Given the description of an element on the screen output the (x, y) to click on. 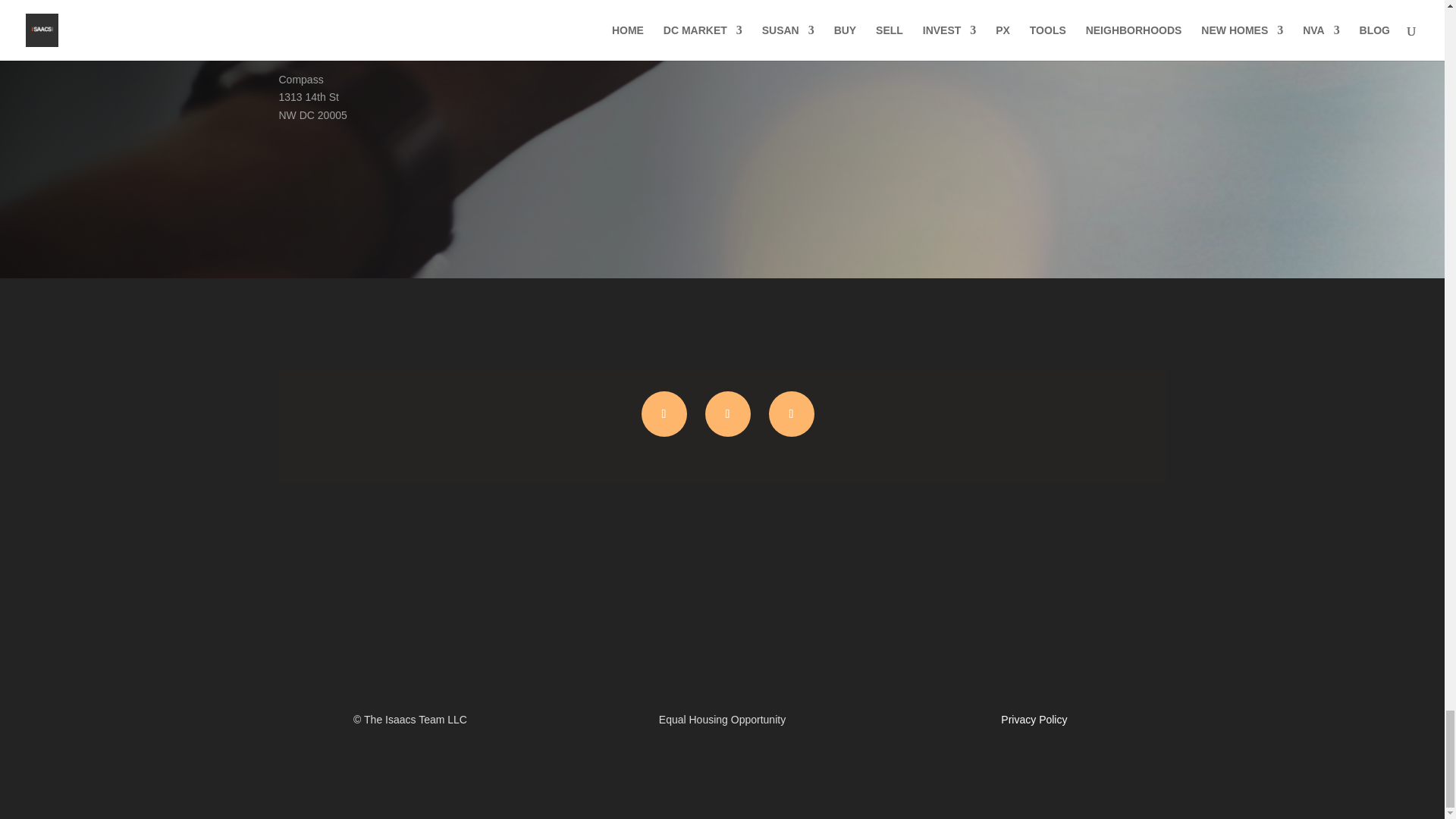
Follow on Facebook (790, 413)
Follow on LinkedIn (727, 413)
Follow on Instagram (664, 413)
